Given the description of an element on the screen output the (x, y) to click on. 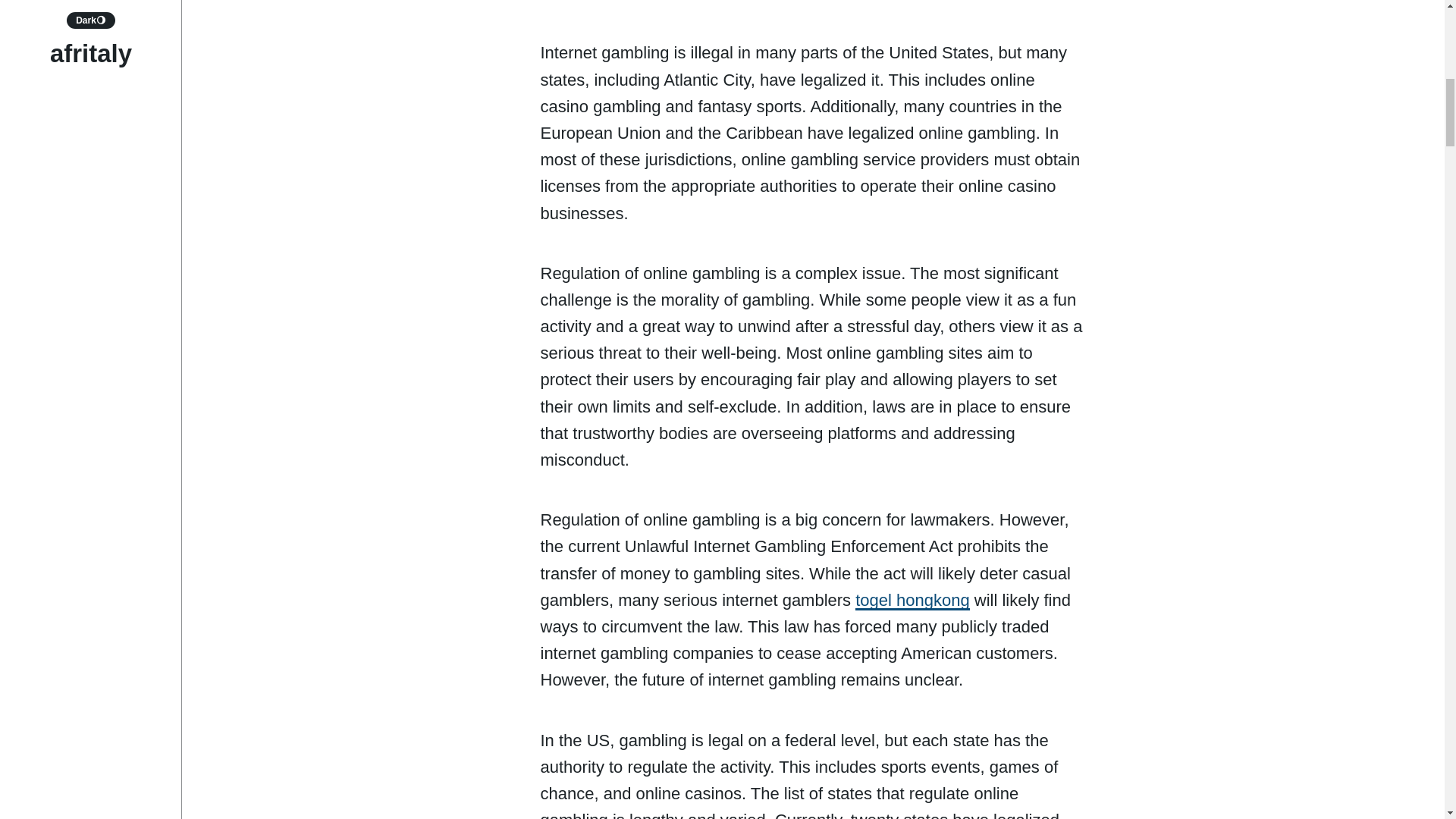
togel hongkong (912, 600)
